Given the description of an element on the screen output the (x, y) to click on. 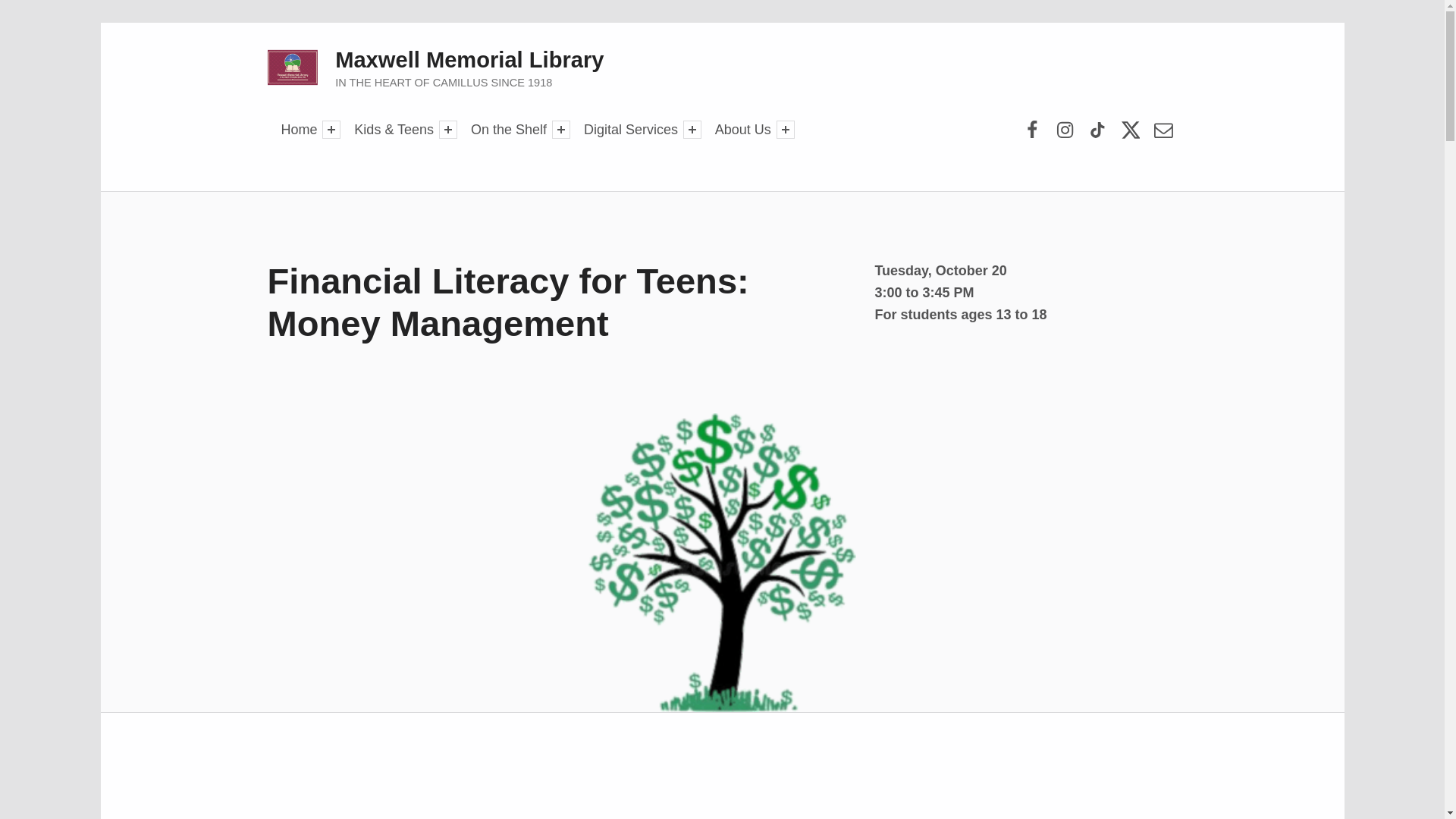
Digital Services (630, 128)
Maxwell Memorial Library (469, 59)
Home (299, 128)
On the Shelf (508, 128)
About Us (743, 128)
